Given the description of an element on the screen output the (x, y) to click on. 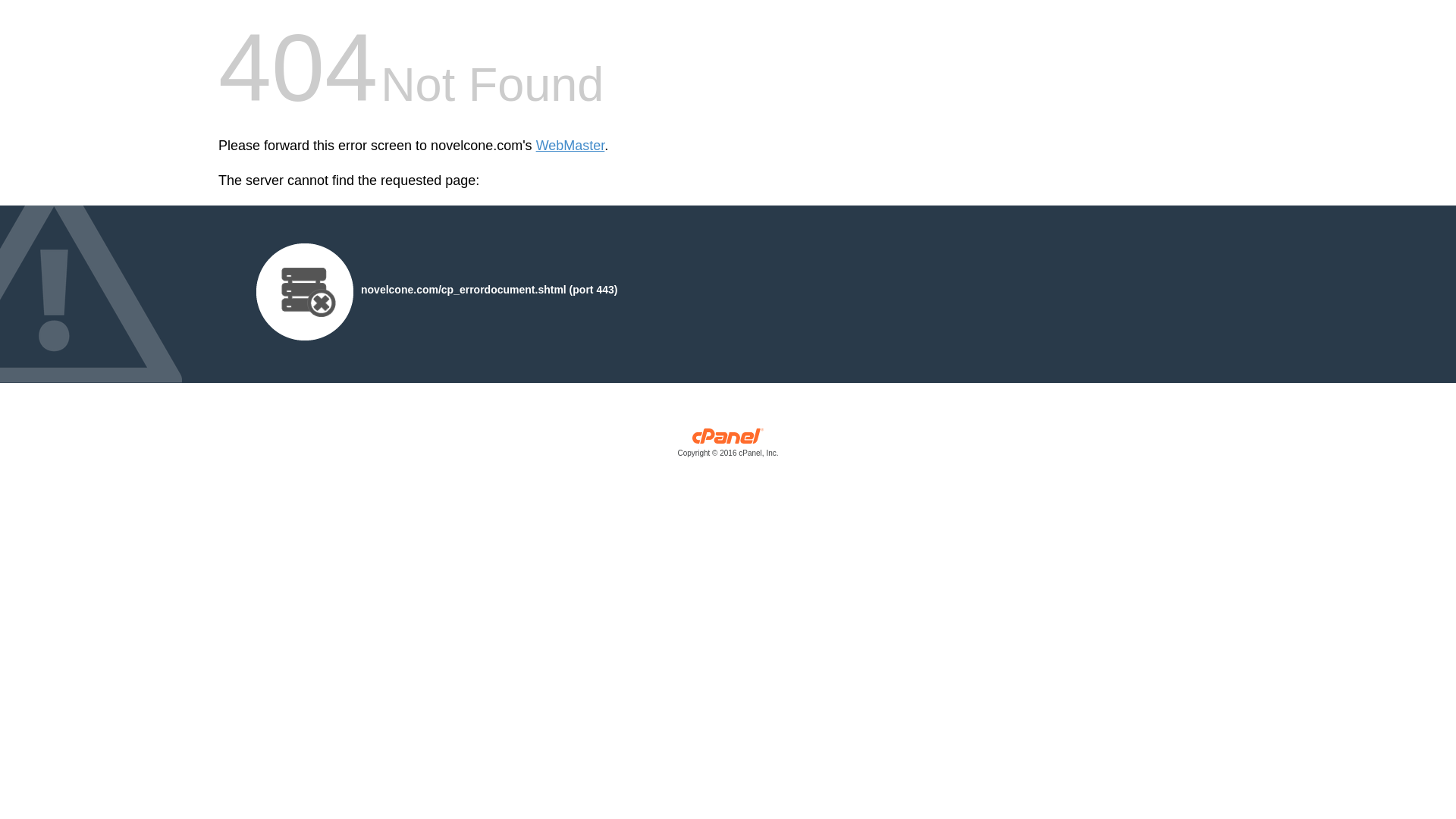
WebMaster (570, 145)
cPanel, Inc. (727, 446)
